Given the description of an element on the screen output the (x, y) to click on. 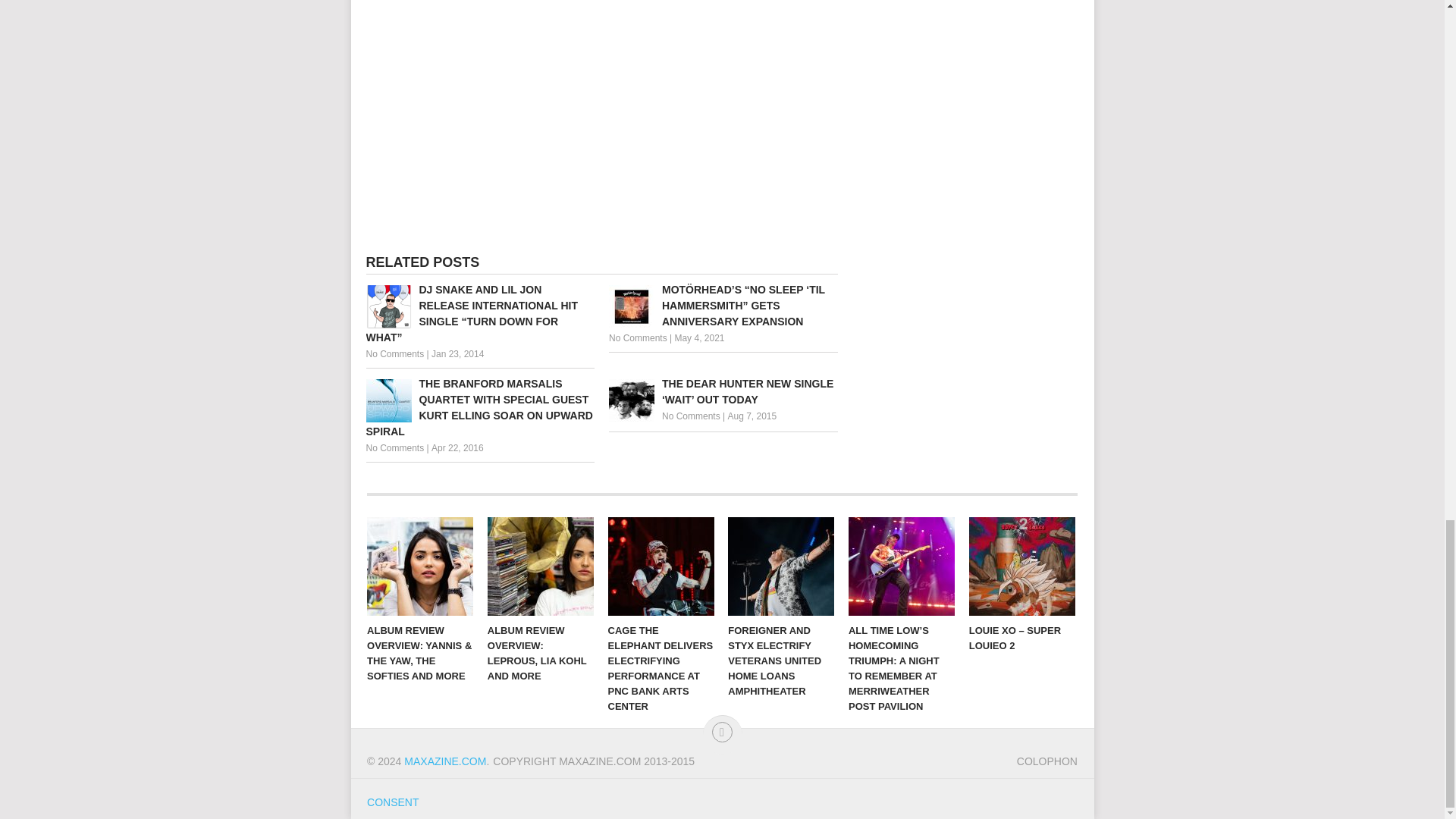
No Comments (394, 448)
No Comments (691, 416)
No Comments (394, 353)
No Comments (637, 337)
